Given the description of an element on the screen output the (x, y) to click on. 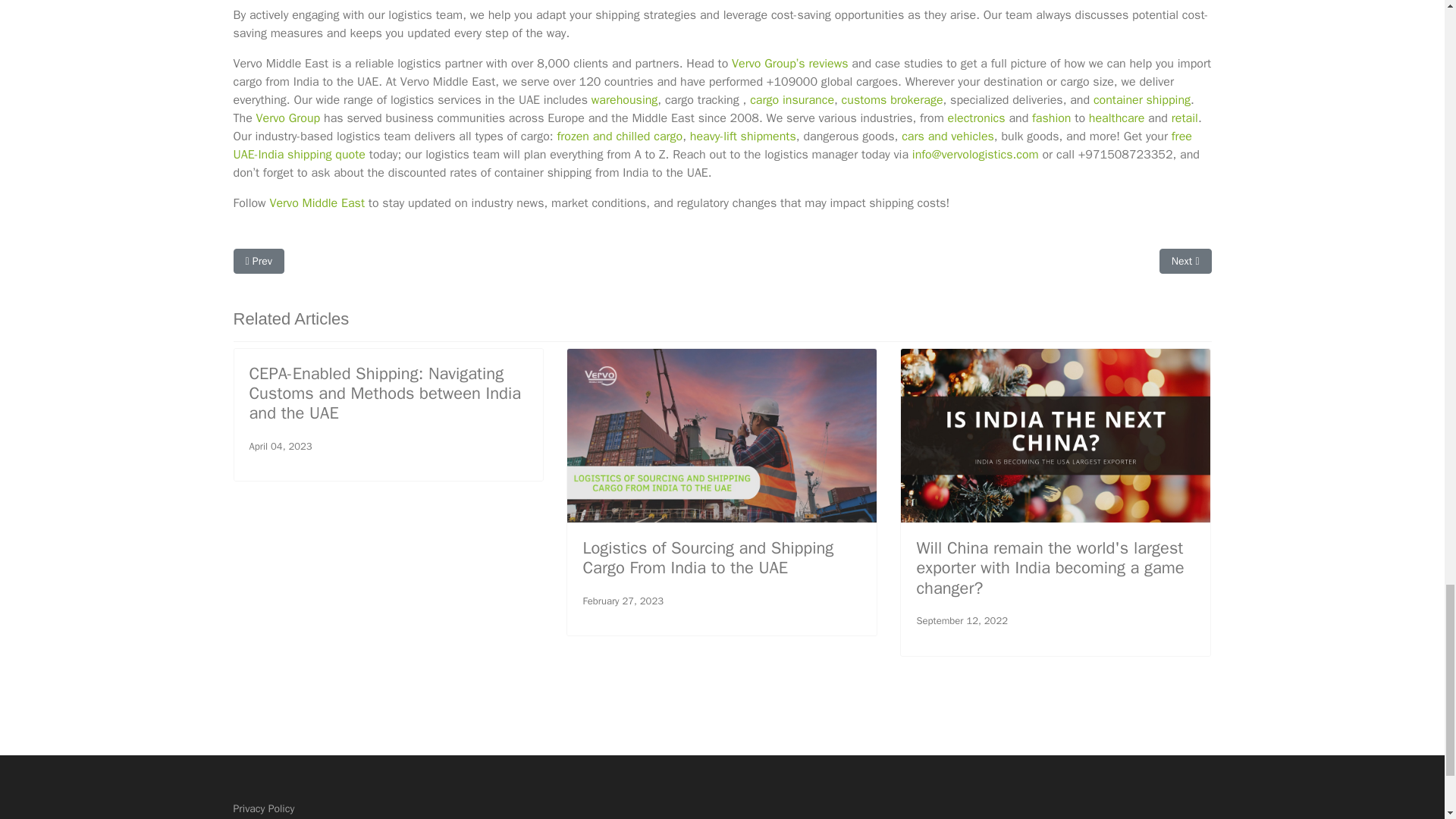
warehousing (624, 99)
Published: February 27, 2023 (622, 601)
Published: April 04, 2023 (279, 446)
Published: September 12, 2022 (961, 620)
